Given the description of an element on the screen output the (x, y) to click on. 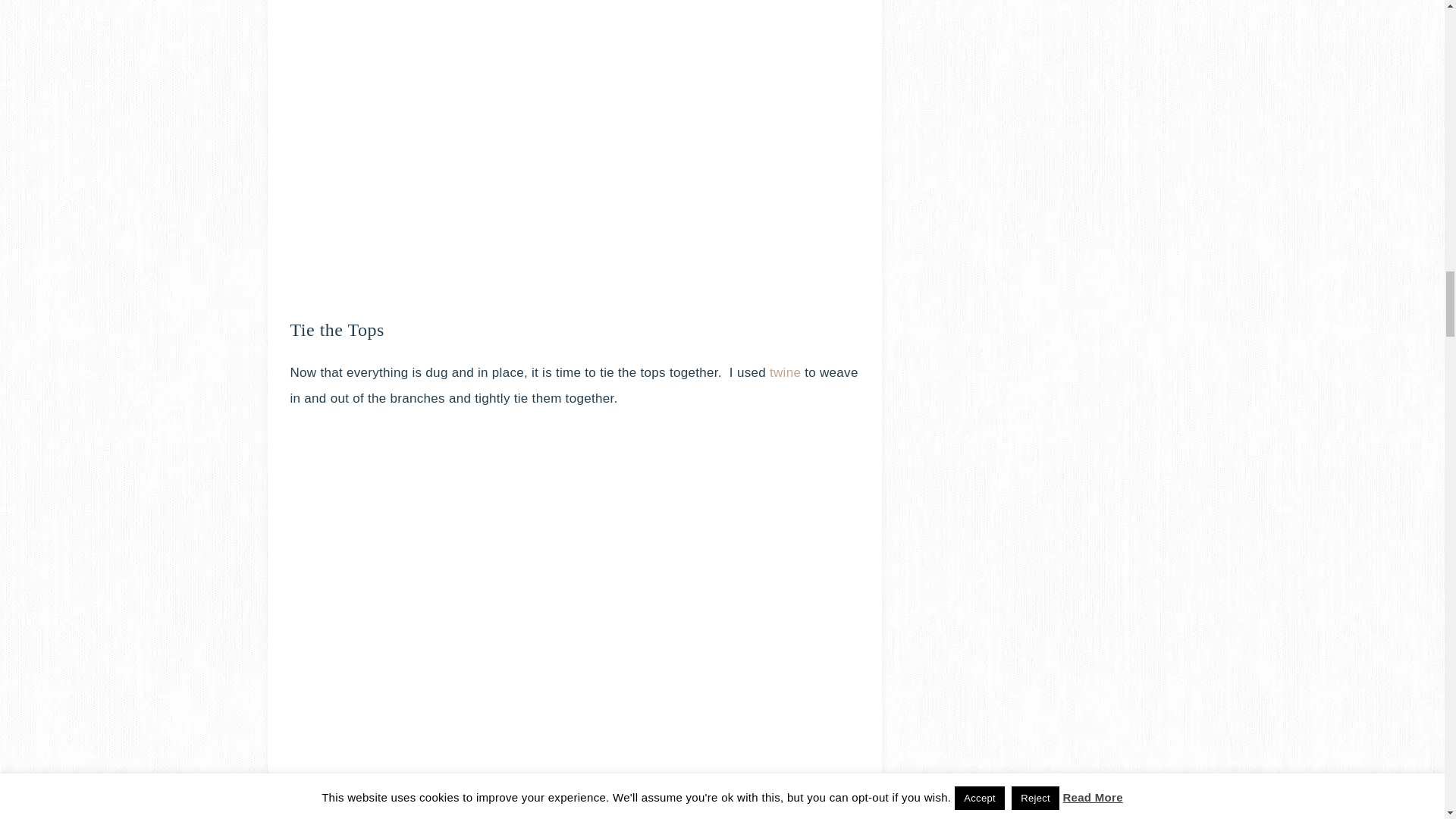
twine (787, 372)
